Given the description of an element on the screen output the (x, y) to click on. 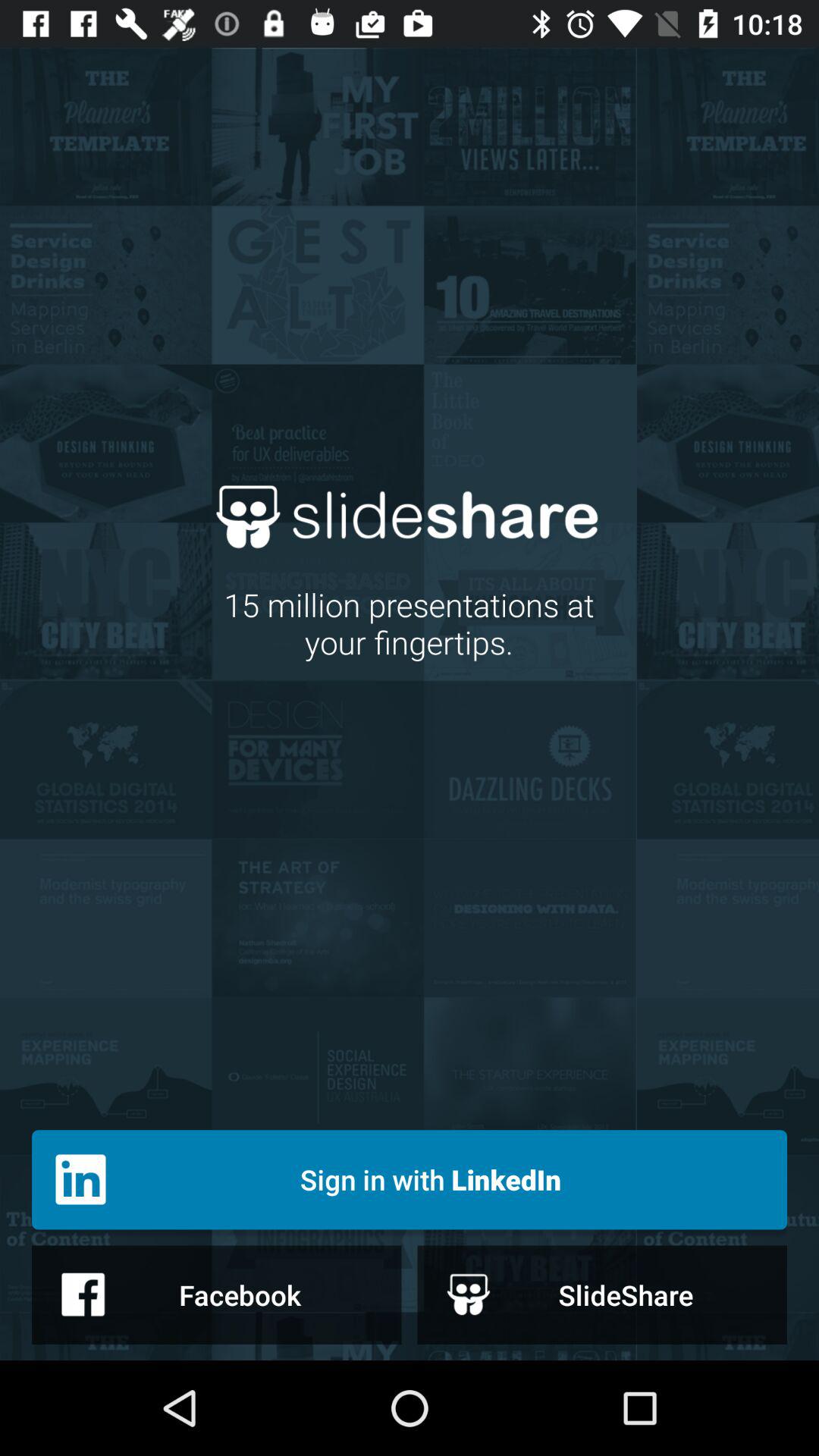
choose item below sign in with (602, 1294)
